Given the description of an element on the screen output the (x, y) to click on. 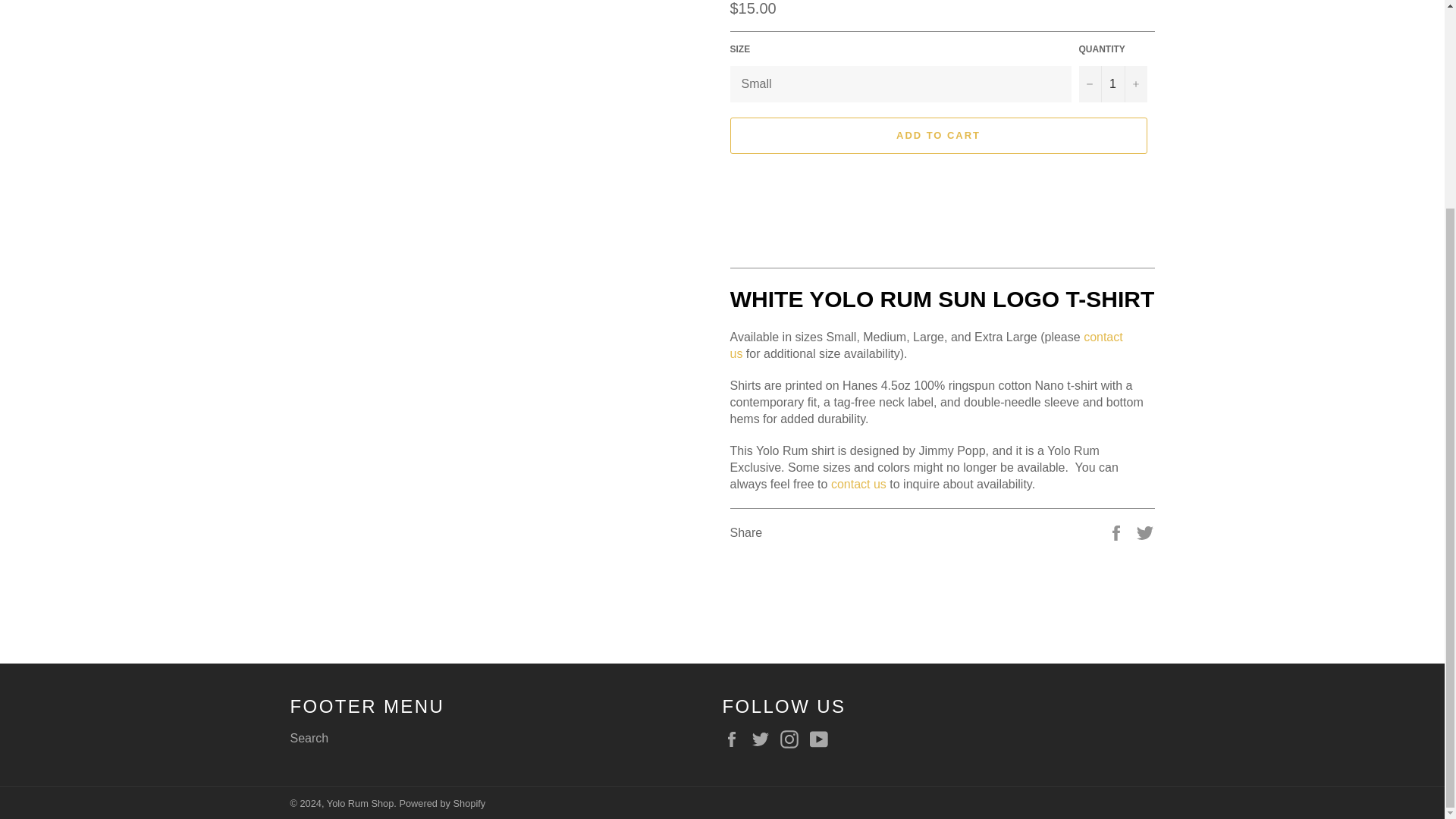
1 (1112, 84)
Yolo Rum Shop on Facebook (735, 739)
Facebook (735, 739)
Yolo Rum Shop on Instagram (793, 739)
Contact Us (858, 483)
ADD TO CART (938, 135)
Powered by Shopify (441, 803)
Yolo Rum Shop (359, 803)
contact us (858, 483)
Twitter (764, 739)
